Given the description of an element on the screen output the (x, y) to click on. 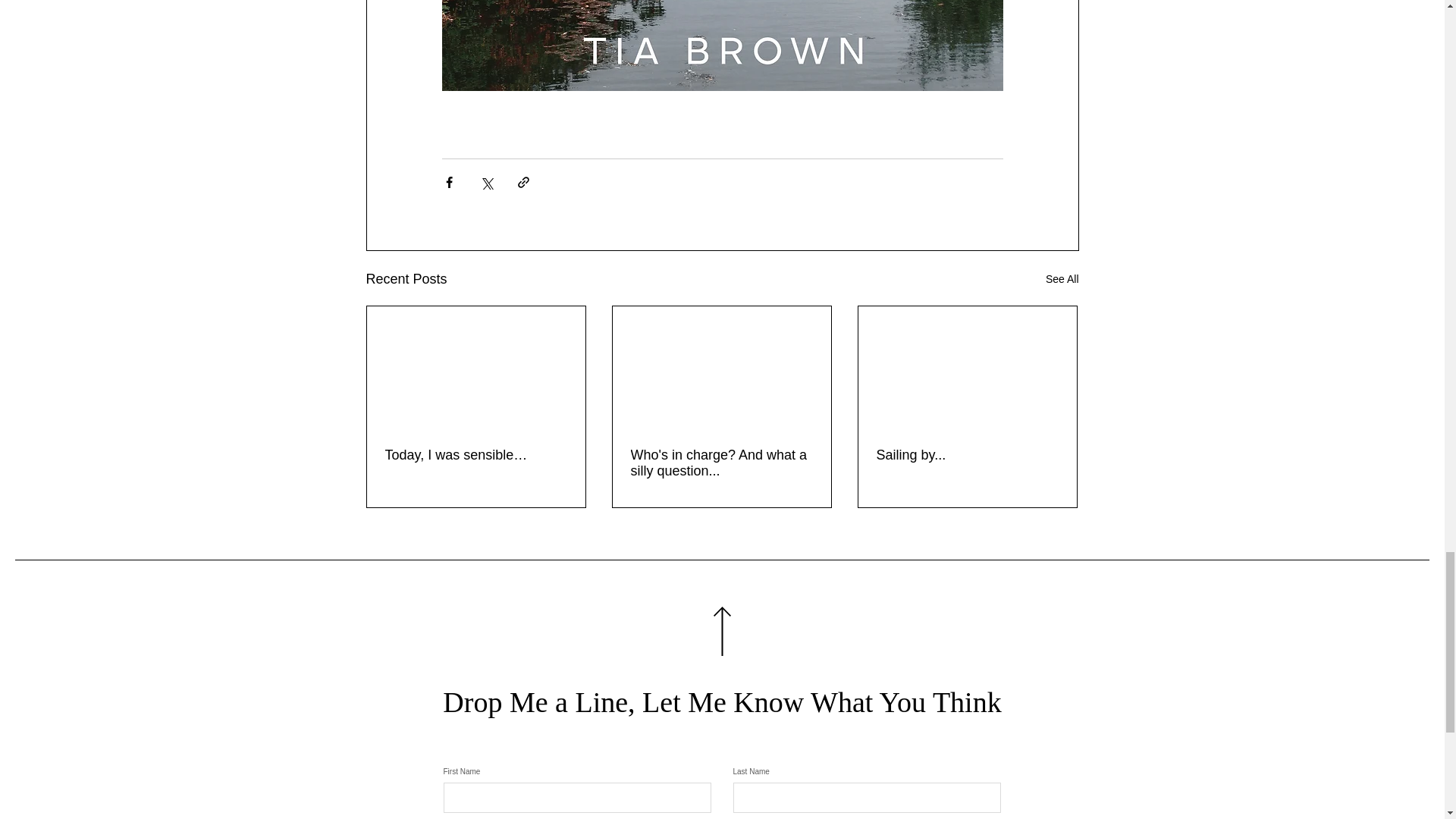
Who's in charge? And what a silly question... (721, 463)
See All (1061, 279)
Sailing by... (967, 455)
